Given the description of an element on the screen output the (x, y) to click on. 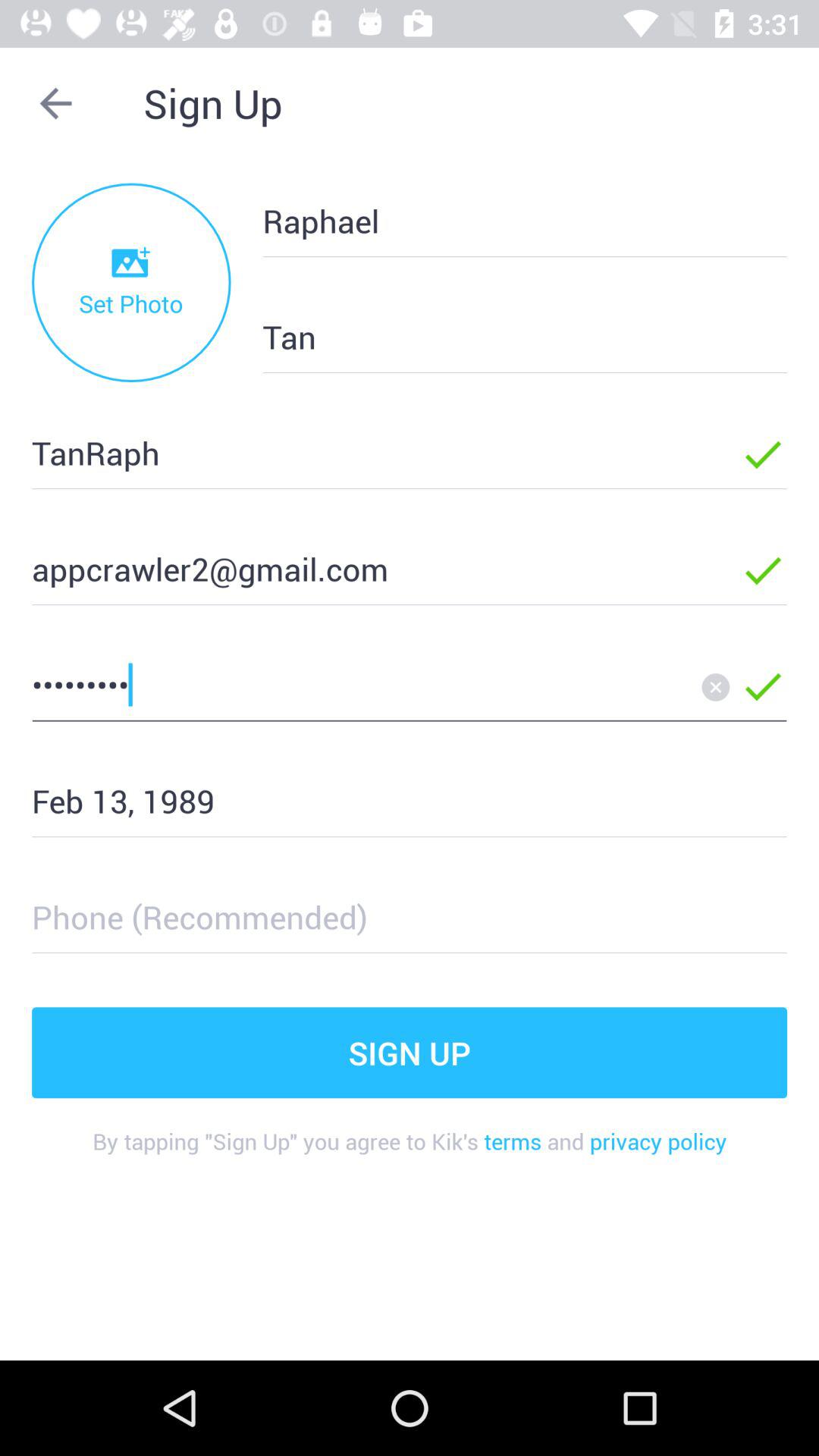
swipe until the tan icon (500, 336)
